Given the description of an element on the screen output the (x, y) to click on. 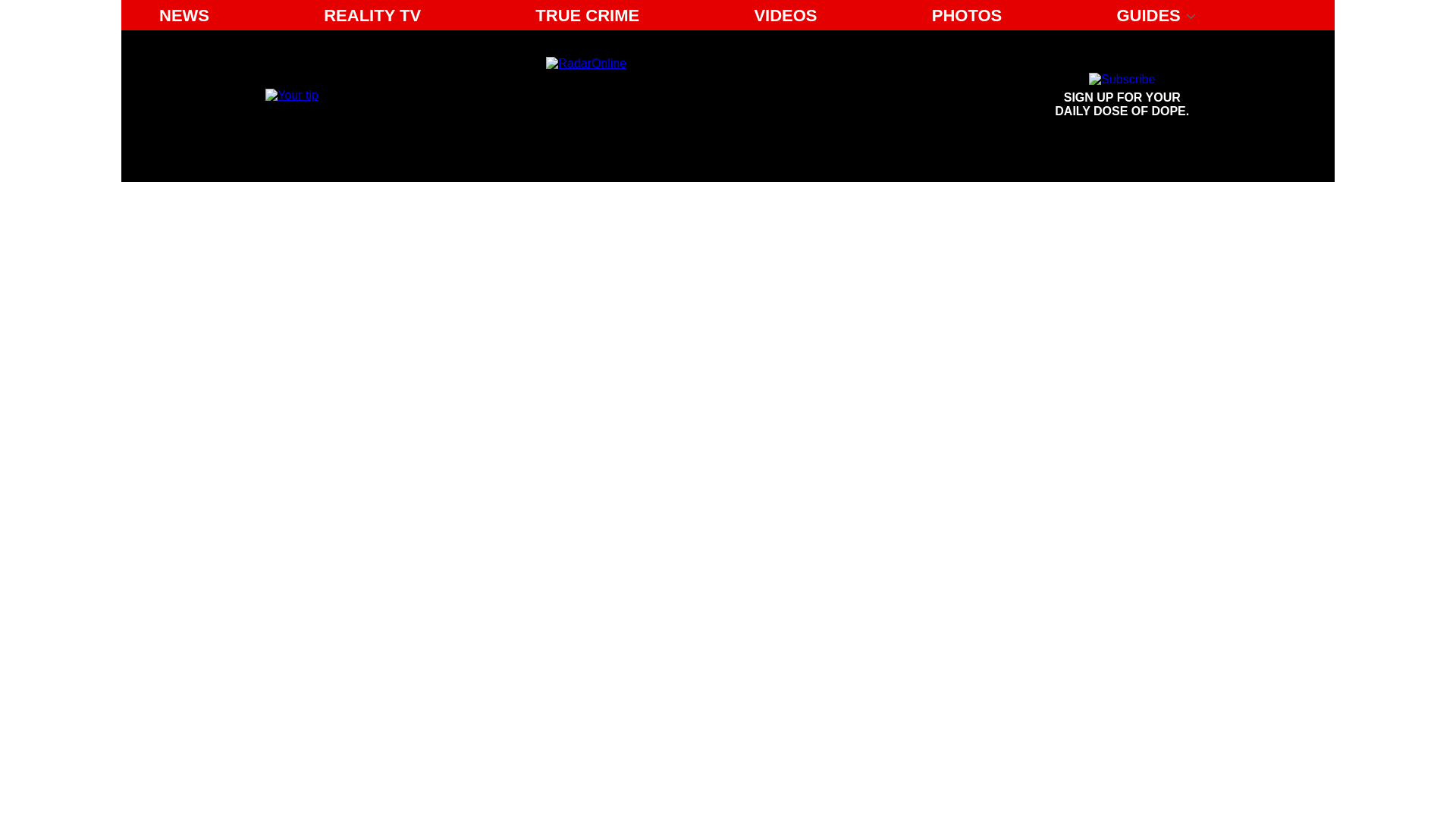
PHOTOS (967, 15)
Sign up for your daily dose of dope. (1122, 94)
REALITY TV (371, 15)
NEWS (183, 15)
Radar Online (685, 95)
VIDEOS (784, 15)
Email us your tip (1122, 94)
TRUE CRIME (291, 94)
